Given the description of an element on the screen output the (x, y) to click on. 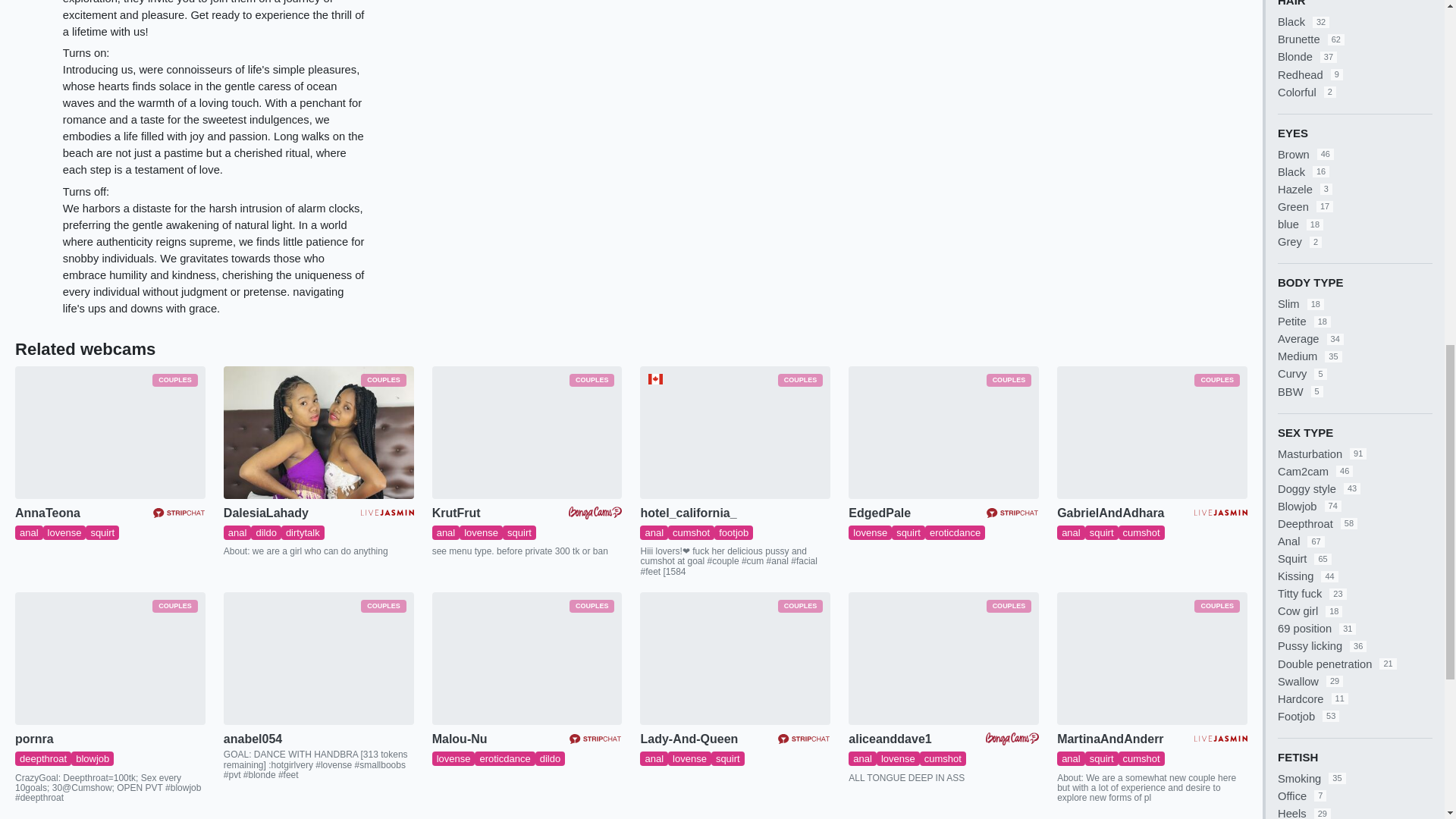
AnnaTeonaLive Webcam (109, 432)
KrutFrutLive Webcam (527, 432)
Malou-NuLive Webcam (527, 658)
EdgedPaleLive Webcam (943, 432)
Anabel054Live Webcam (318, 658)
Aliceanddave1Live Webcam (943, 658)
GabrielAndAdharaLive Webcam (1152, 432)
Lady-And-QueenLive Webcam (734, 658)
PornraLive Webcam (109, 658)
DalesiaLahadyLive Webcam (318, 432)
